Given the description of an element on the screen output the (x, y) to click on. 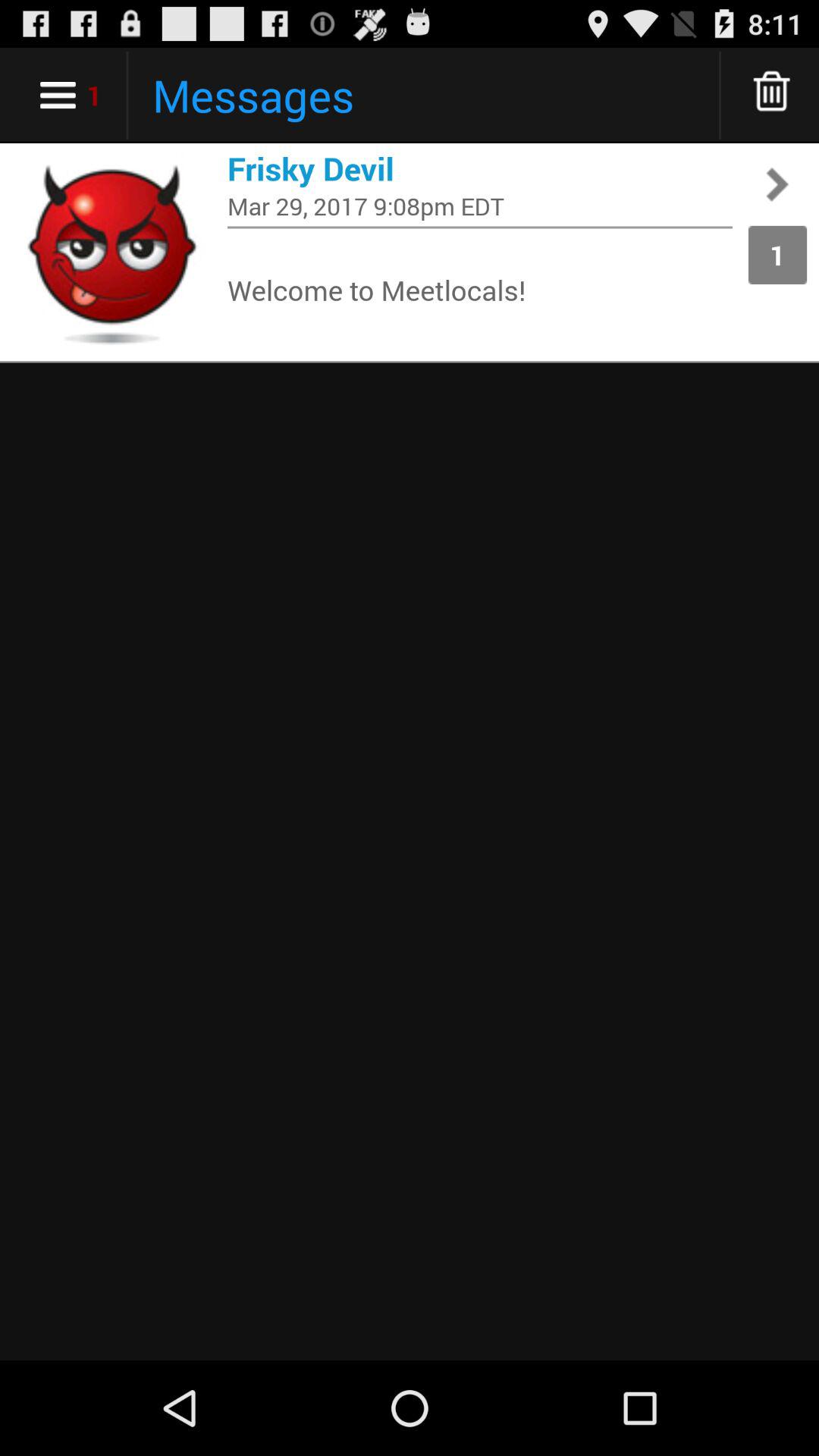
click frisky devil icon (479, 168)
